Given the description of an element on the screen output the (x, y) to click on. 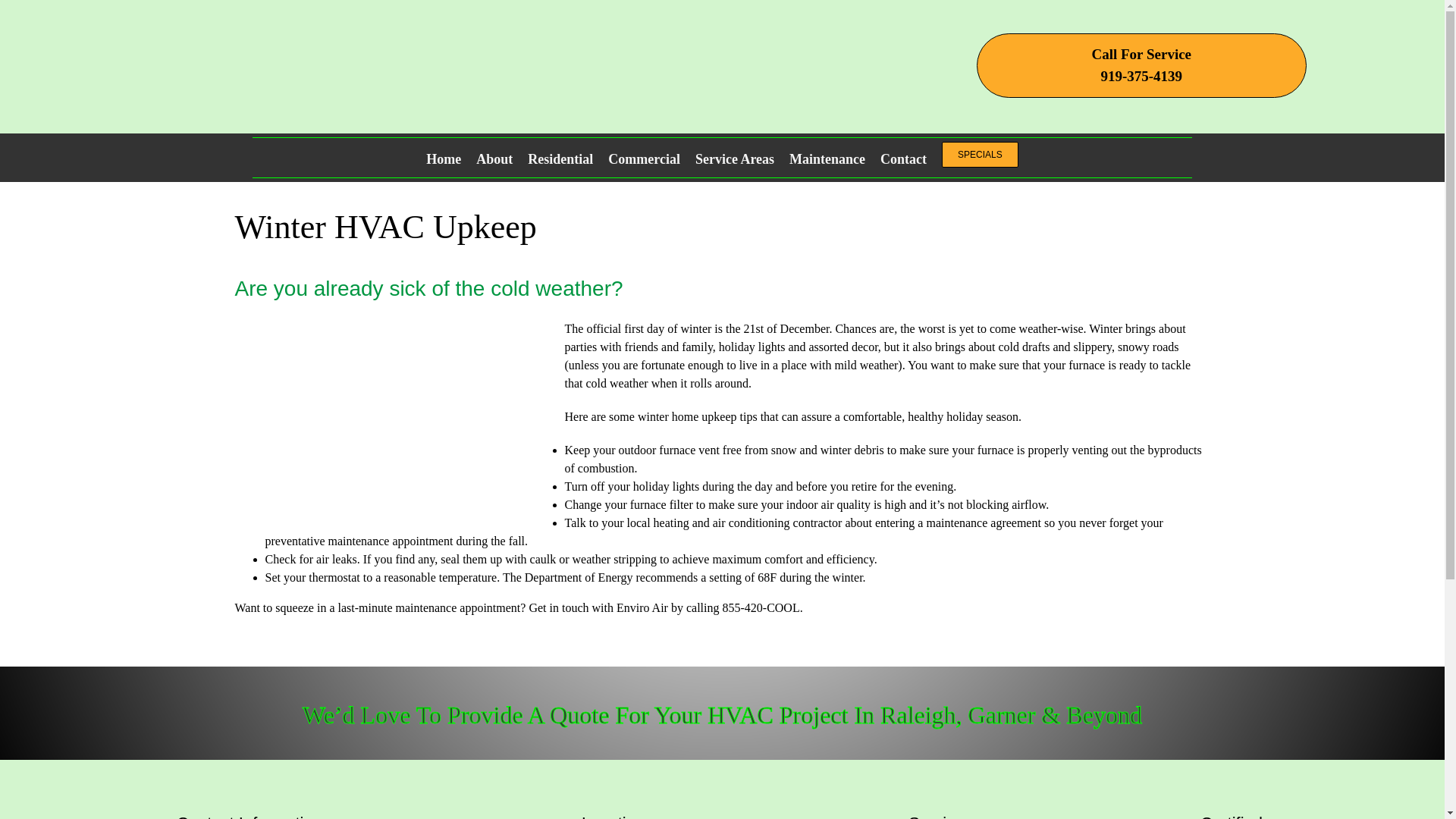
Service Areas (734, 157)
Commercial (643, 157)
Winter Hvac Upkeep 1 (310, 67)
Winter Hvac Upkeep 2 (1285, 153)
Winter Hvac Upkeep 3 (1141, 65)
About (393, 421)
Contact (494, 157)
Home (903, 157)
Maintenance (443, 157)
